Given the description of an element on the screen output the (x, y) to click on. 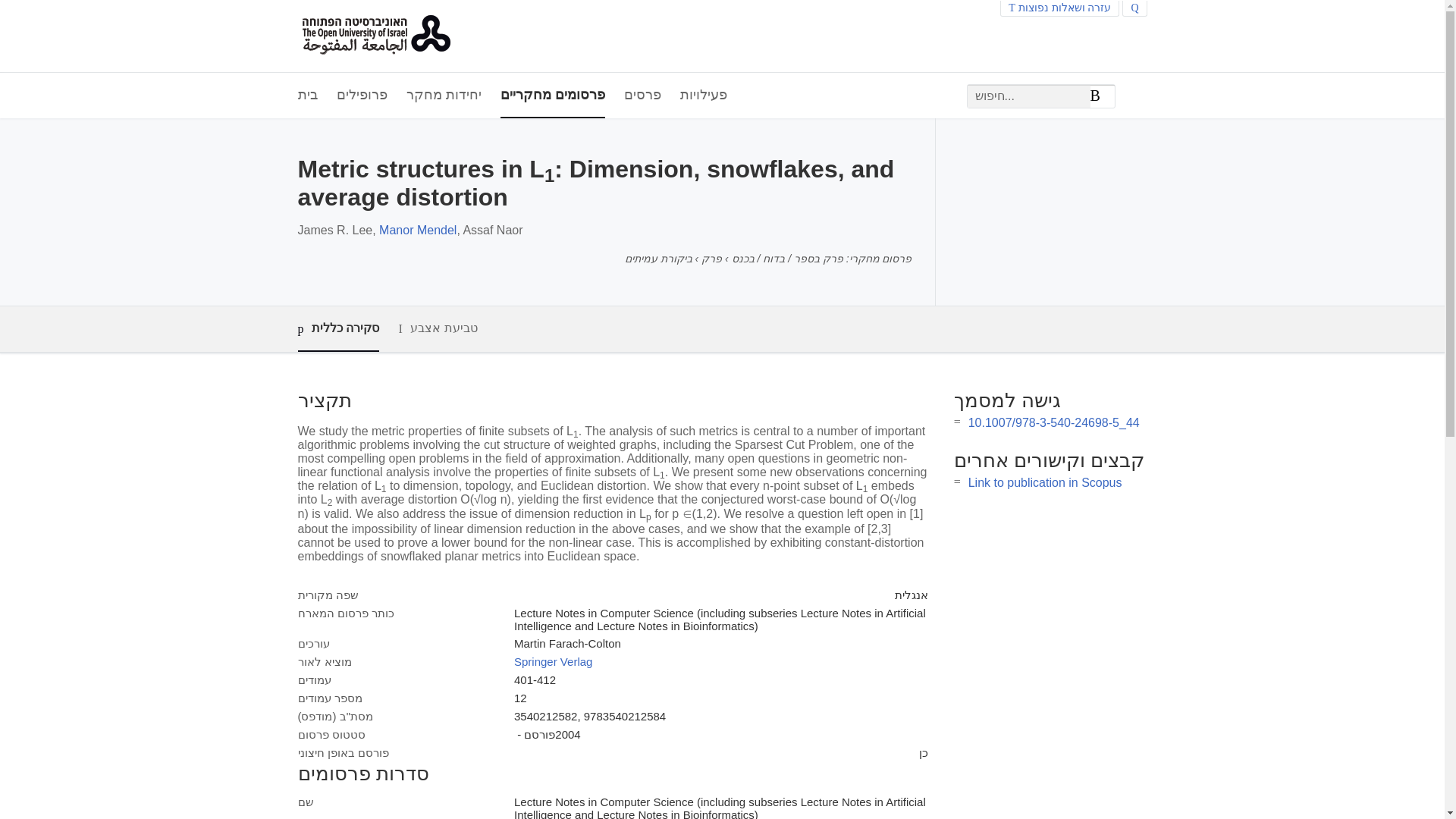
Springer Verlag (552, 661)
Link to publication in Scopus (1045, 481)
Manor Mendel (417, 229)
